Given the description of an element on the screen output the (x, y) to click on. 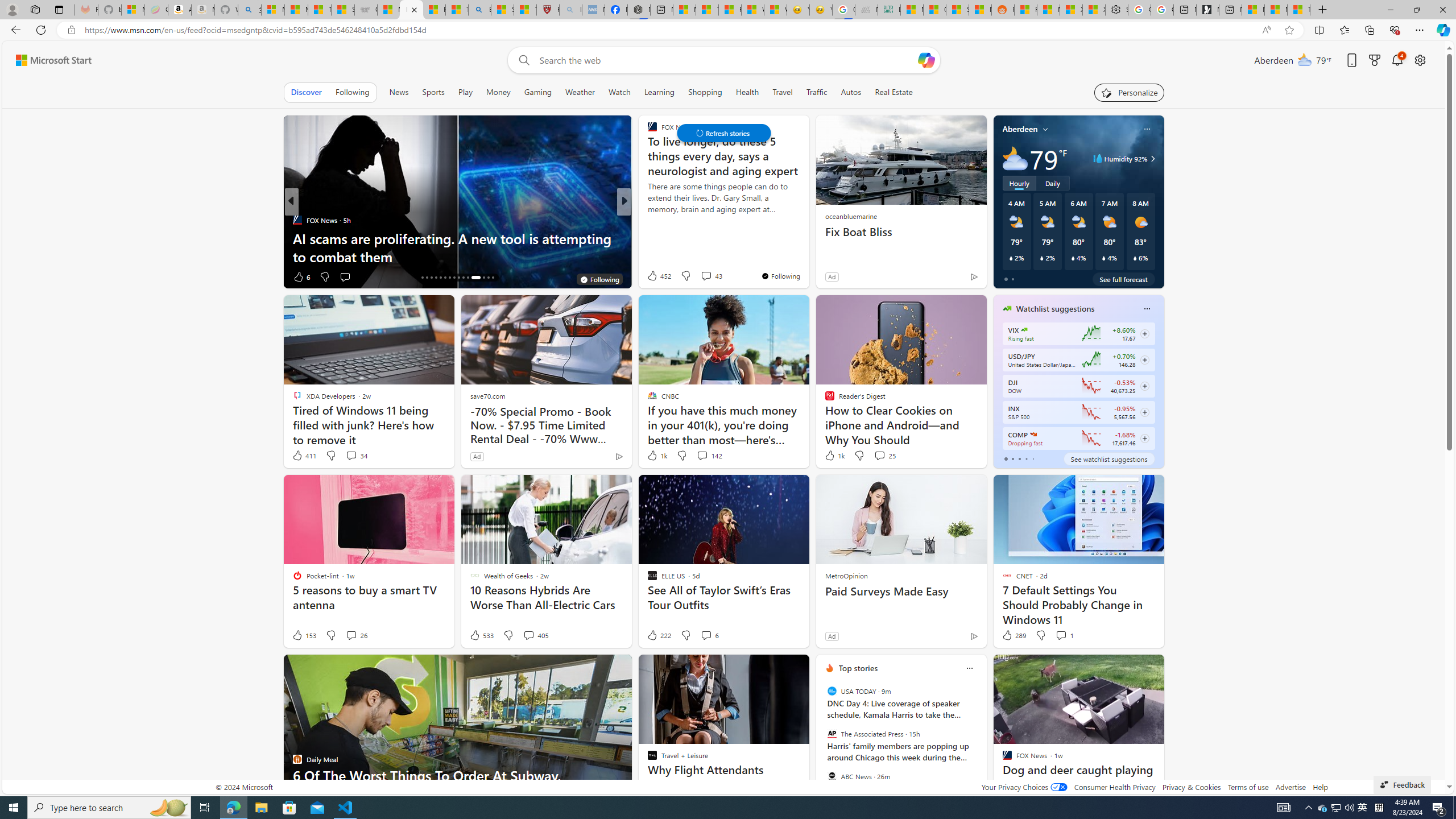
AutomationID: tab-18 (431, 277)
HowToGeek (647, 219)
CNET (647, 219)
View comments 142 Comment (708, 455)
View comments 197 Comment (703, 276)
